Given the description of an element on the screen output the (x, y) to click on. 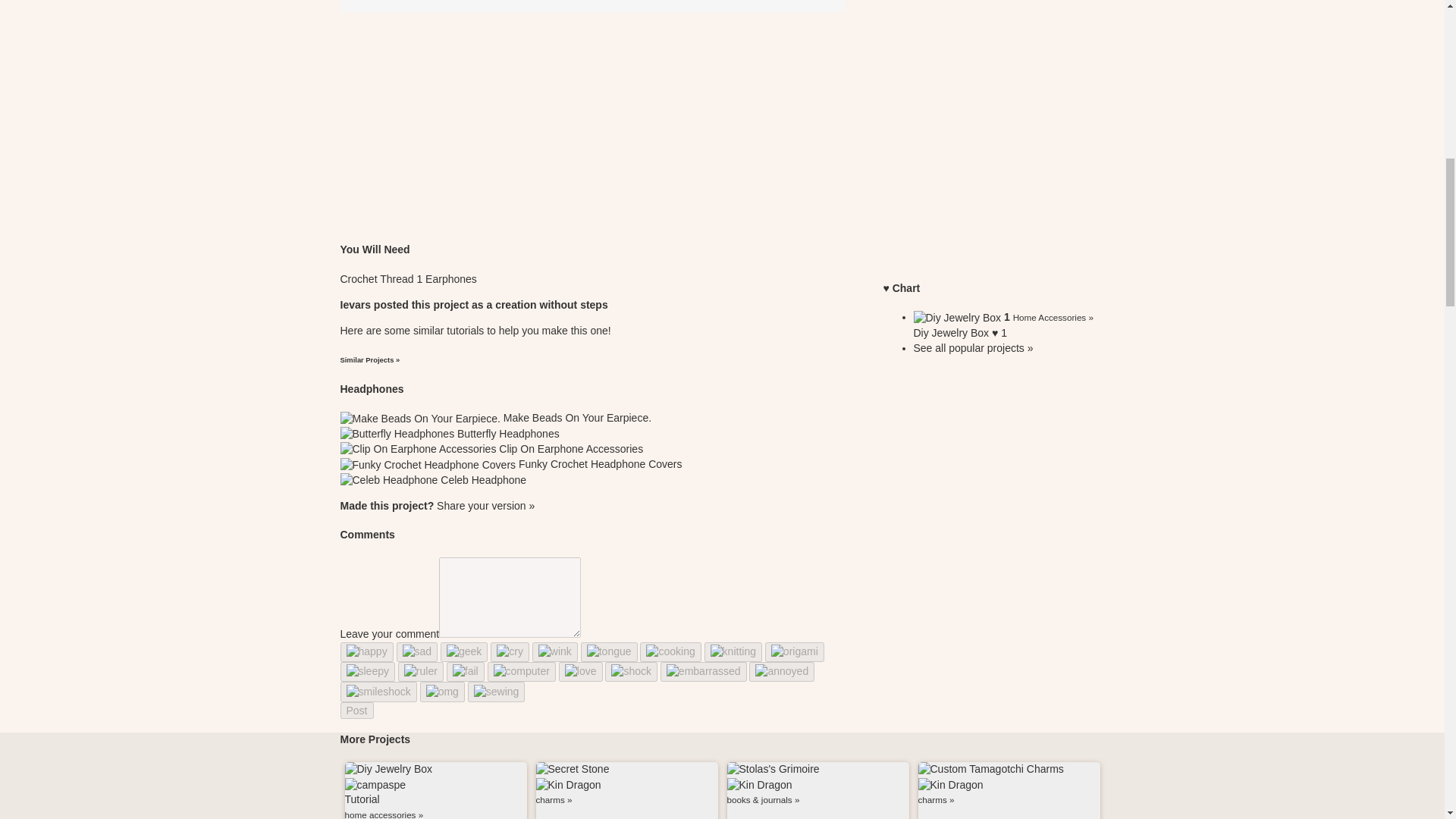
Post (355, 710)
See other projects using Crochet Thread (377, 278)
